Given the description of an element on the screen output the (x, y) to click on. 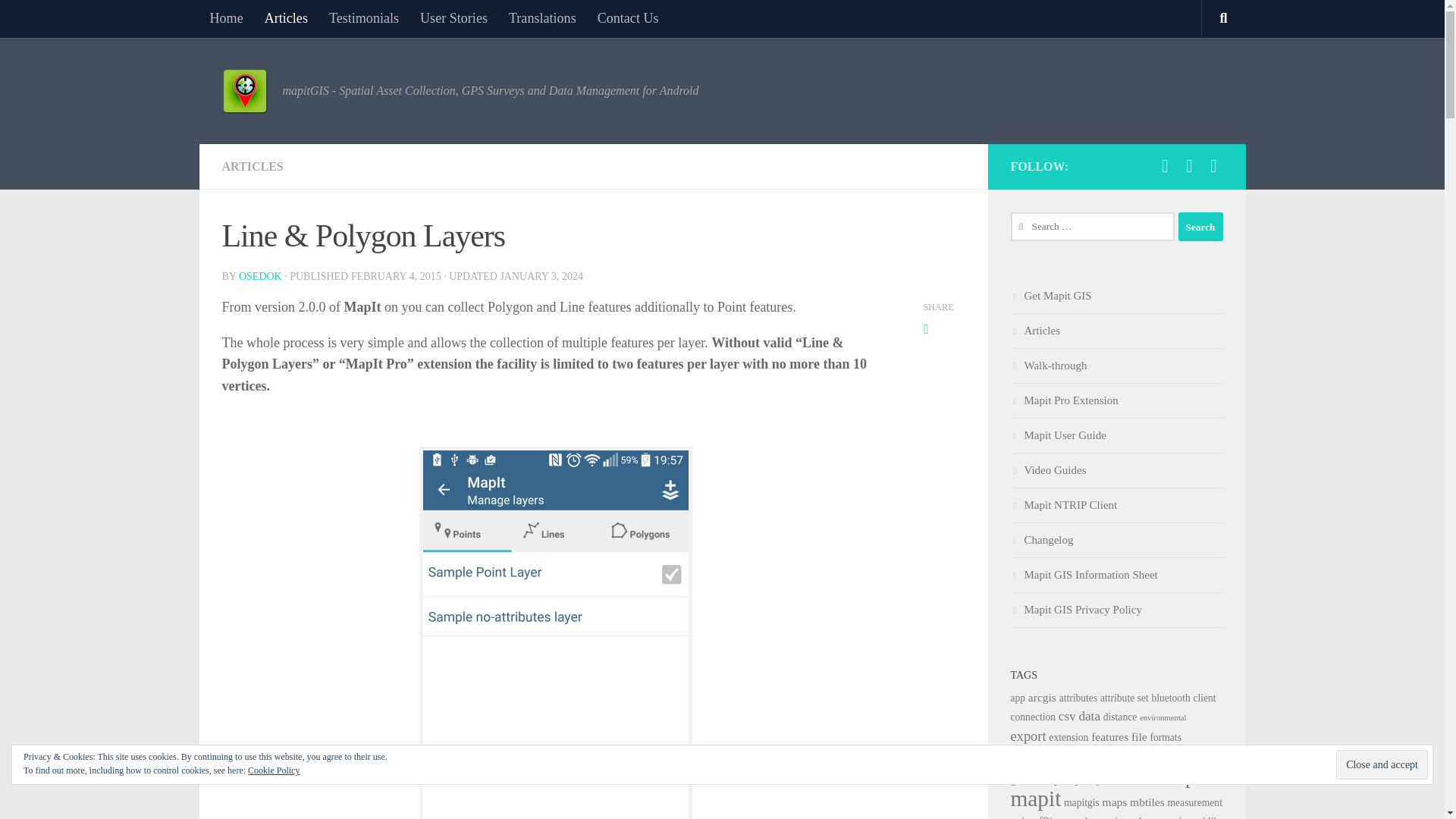
Skip to content (59, 20)
Translations (541, 18)
Follow us on Google (1213, 166)
Posts by osedok (260, 276)
Search (1200, 226)
Follow us on Twitter (1188, 166)
Search (1200, 226)
Testimonials (363, 18)
OSEDOK (260, 276)
User Stories (453, 18)
